Given the description of an element on the screen output the (x, y) to click on. 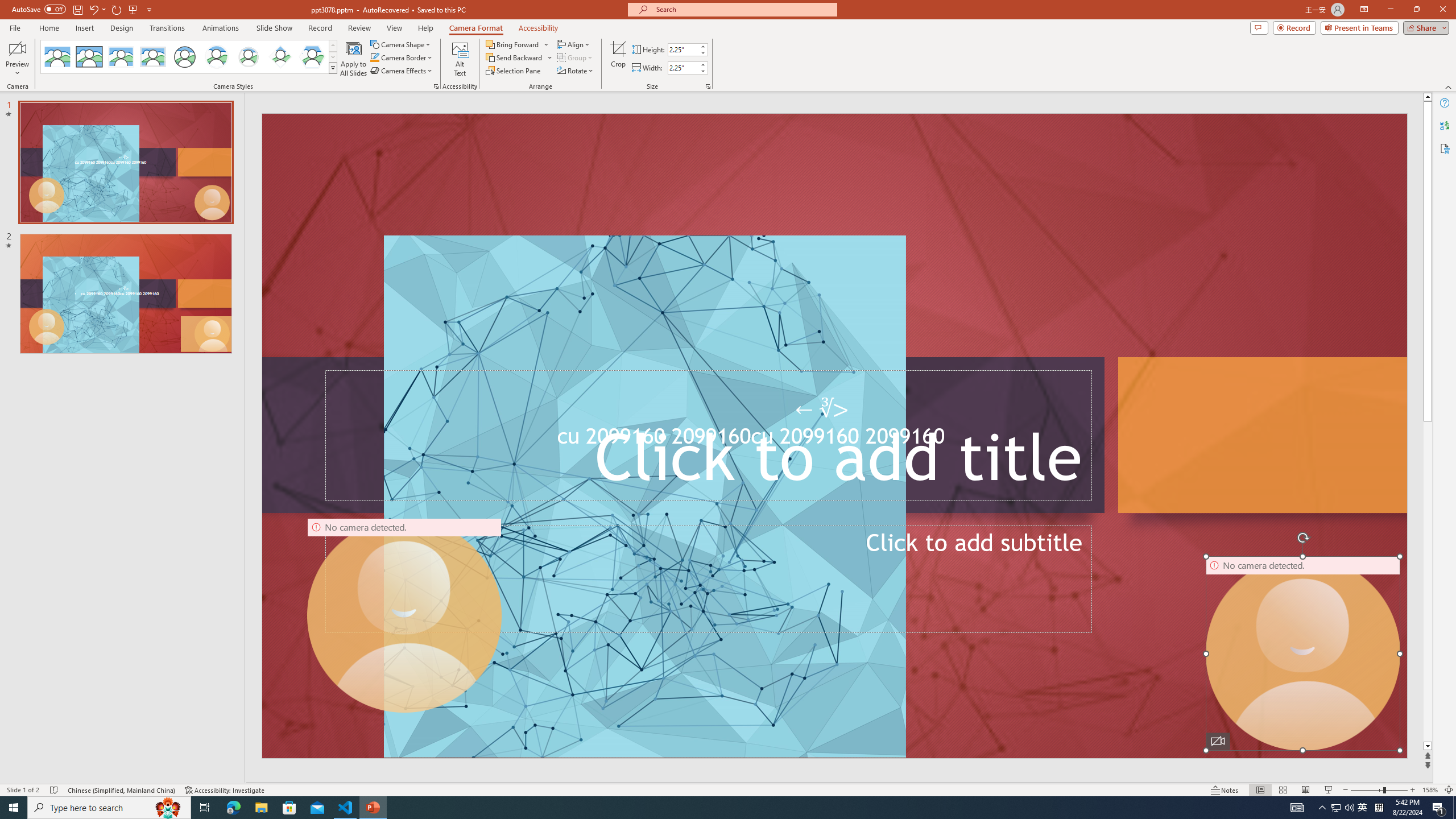
Send Backward (514, 56)
Size and Position... (707, 85)
Crop (617, 58)
Rotate (575, 69)
Center Shadow Diamond (280, 56)
